Given the description of an element on the screen output the (x, y) to click on. 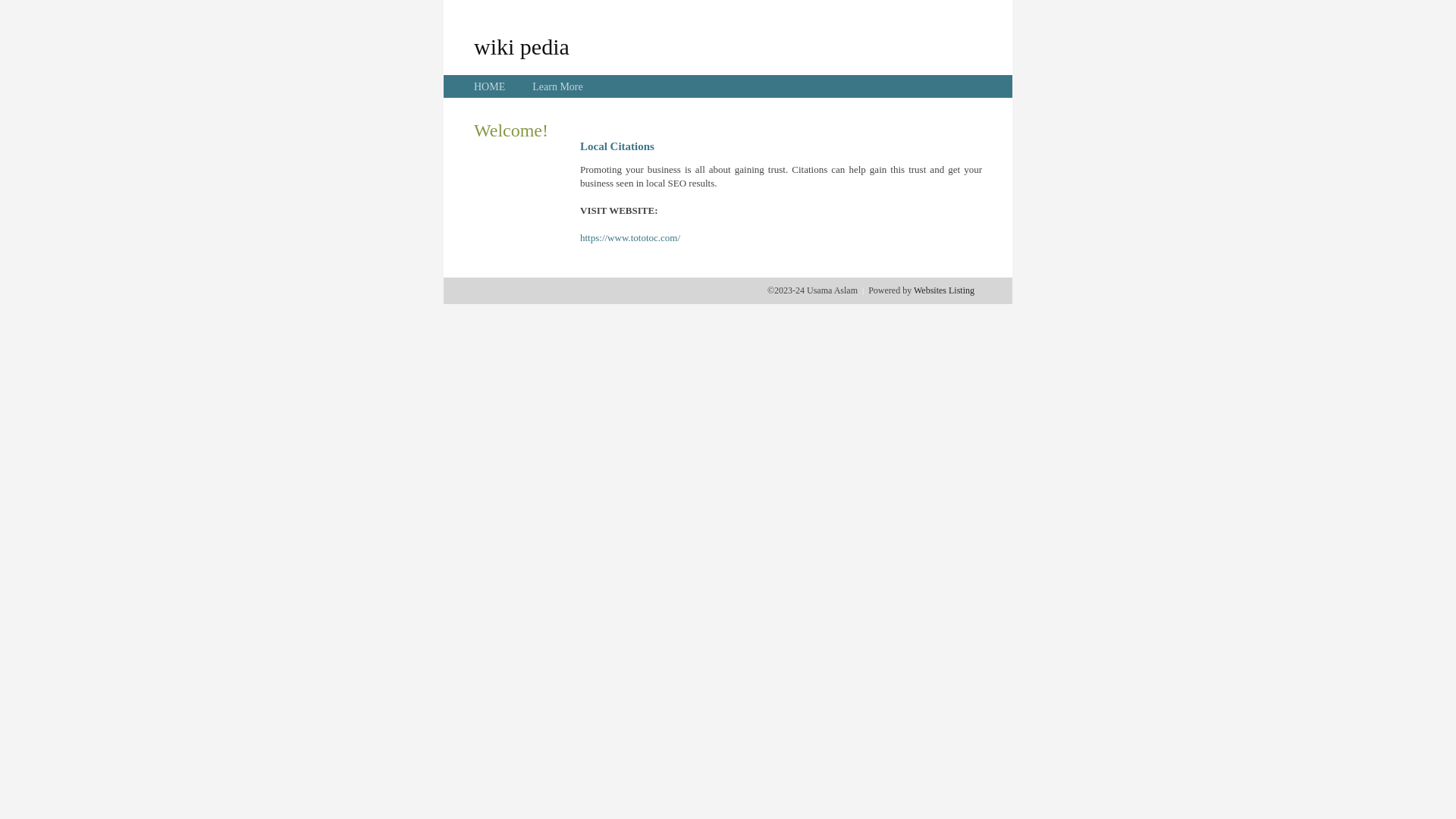
Websites Listing Element type: text (943, 290)
HOME Element type: text (489, 86)
wiki pedia Element type: text (521, 46)
Learn More Element type: text (557, 86)
https://www.tototoc.com/ Element type: text (630, 237)
